Given the description of an element on the screen output the (x, y) to click on. 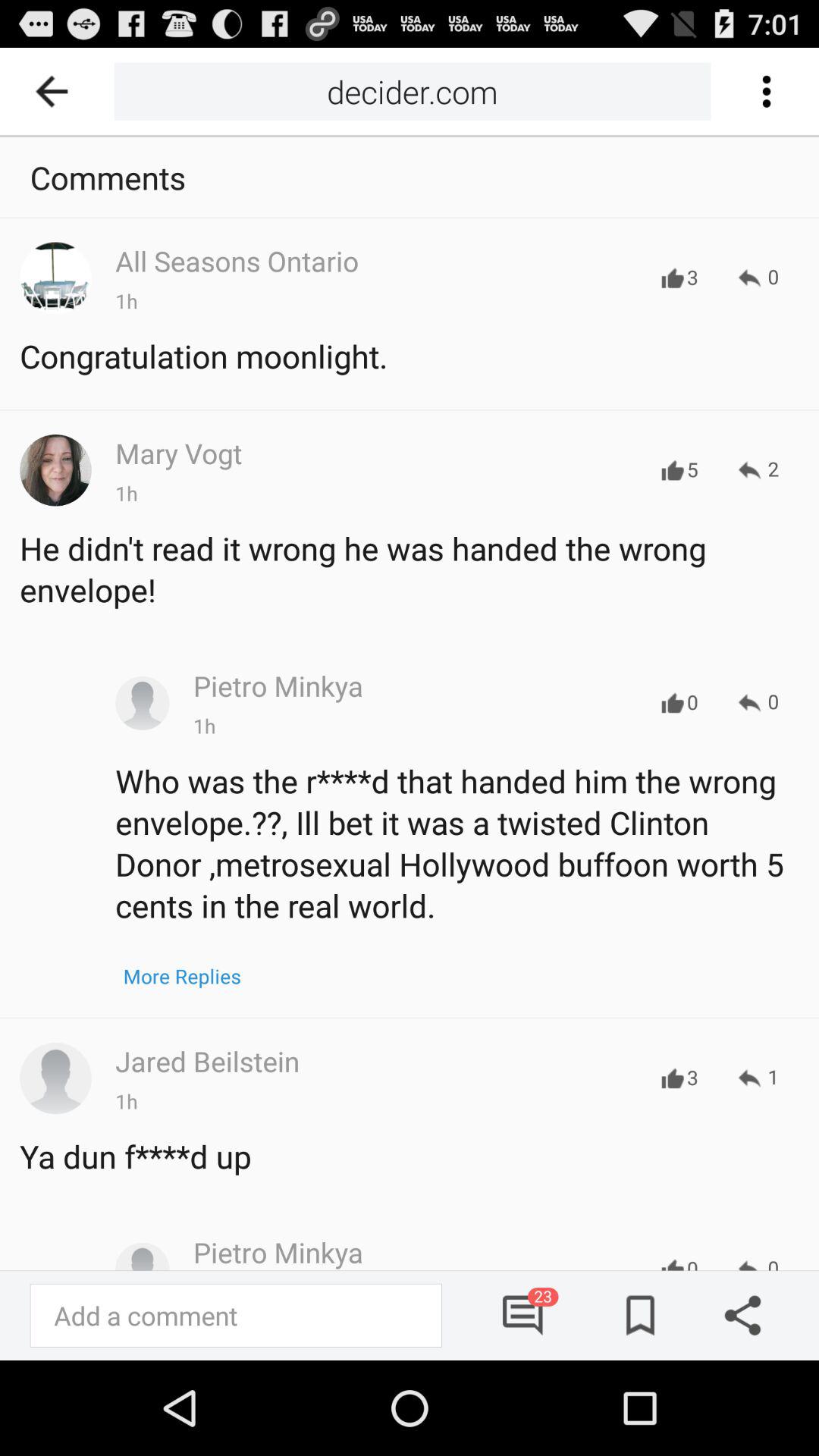
selective button (765, 91)
